Given the description of an element on the screen output the (x, y) to click on. 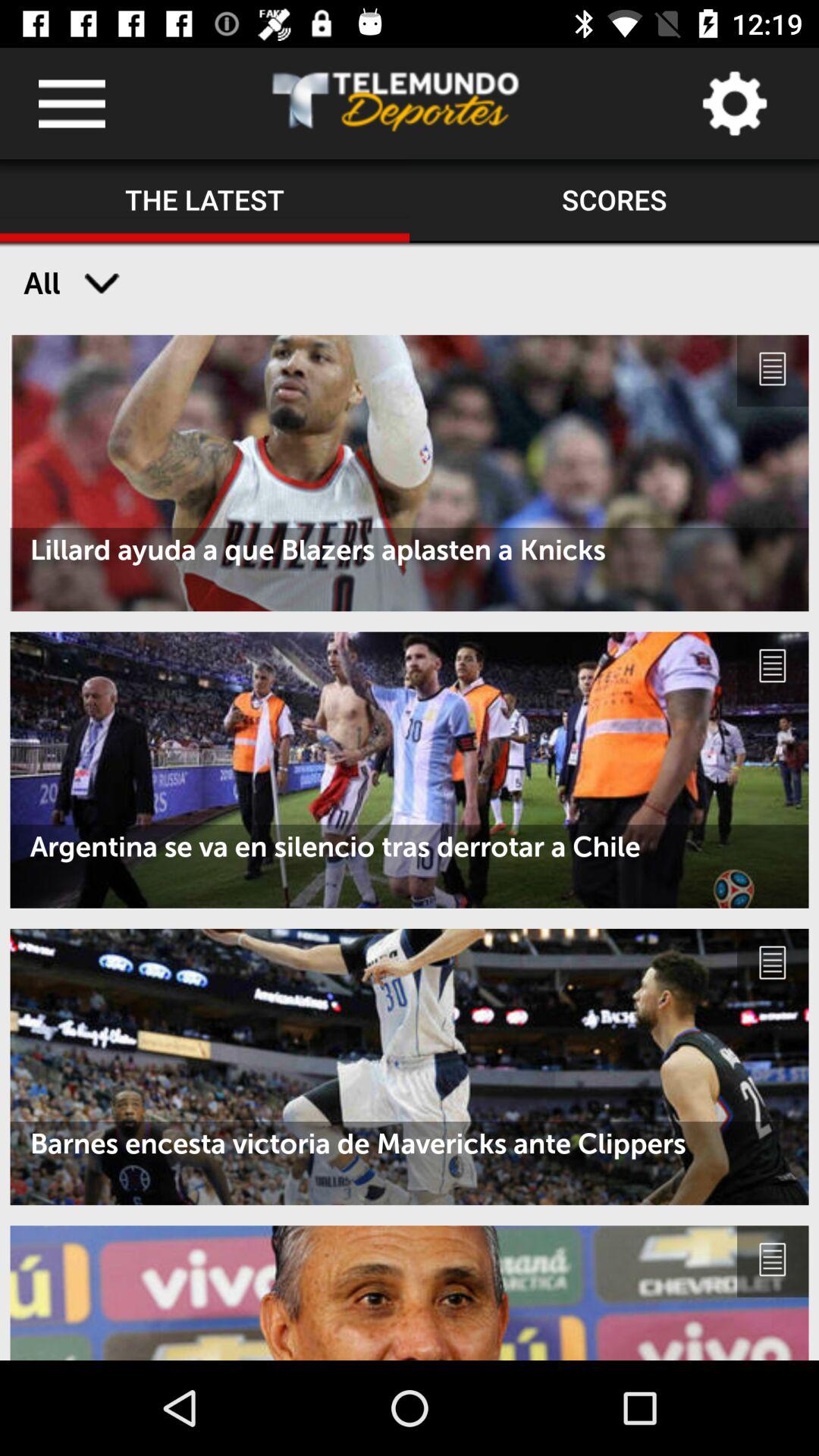
jump until argentina se va icon (409, 846)
